Given the description of an element on the screen output the (x, y) to click on. 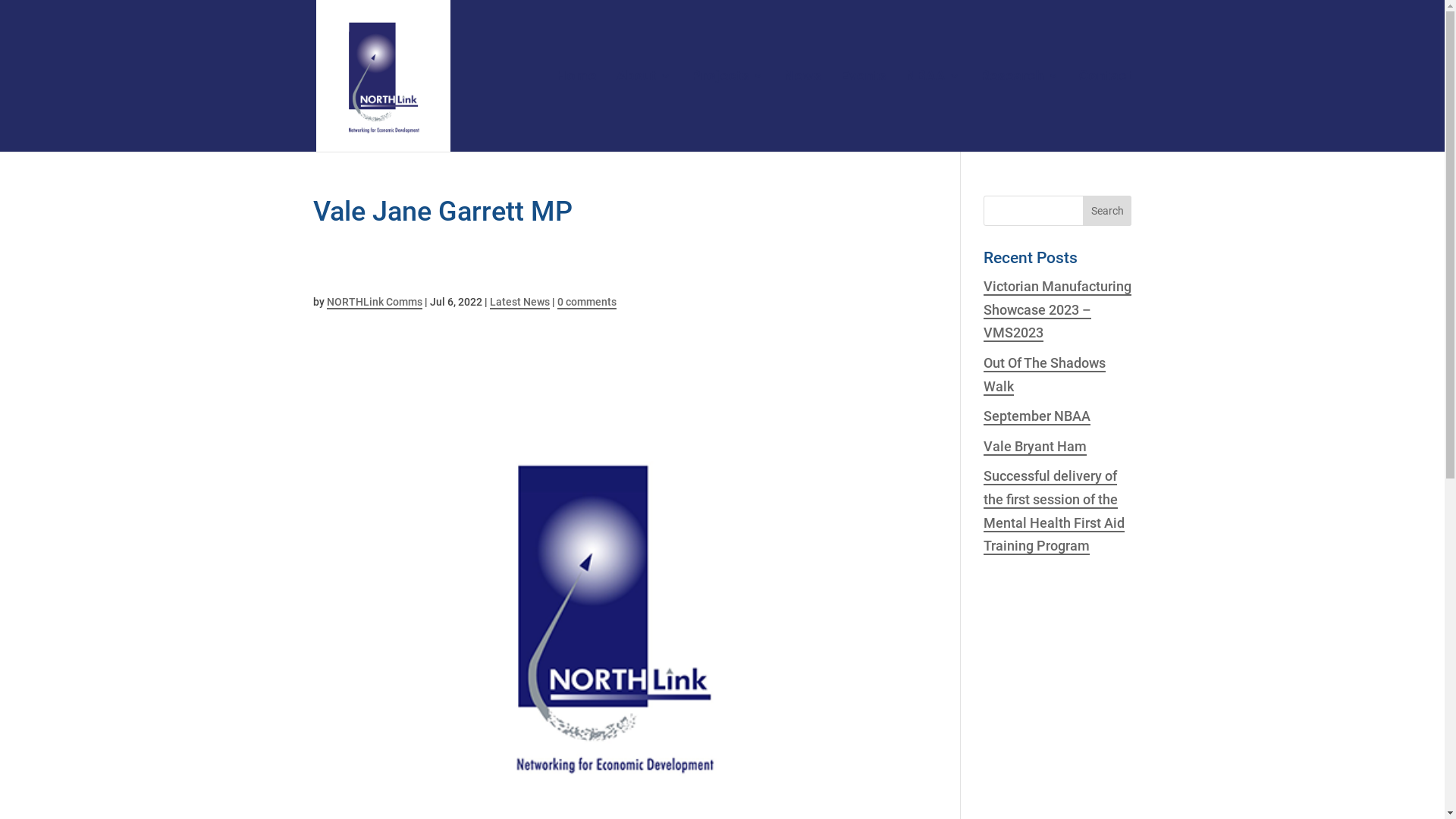
Events Element type: text (862, 110)
Vale Bryant Ham Element type: text (1034, 446)
Latest News Element type: text (519, 302)
September NBAA Element type: text (1036, 416)
NBAA Element type: text (932, 110)
News Element type: text (802, 110)
0 comments Element type: text (585, 302)
Projects Element type: text (727, 110)
Research Element type: text (1018, 110)
NORTHLink Comms Element type: text (373, 302)
Home Element type: text (576, 110)
About Element type: text (643, 110)
Search Element type: text (1107, 210)
Out Of The Shadows Walk Element type: text (1044, 374)
Contact Element type: text (1104, 110)
